Given the description of an element on the screen output the (x, y) to click on. 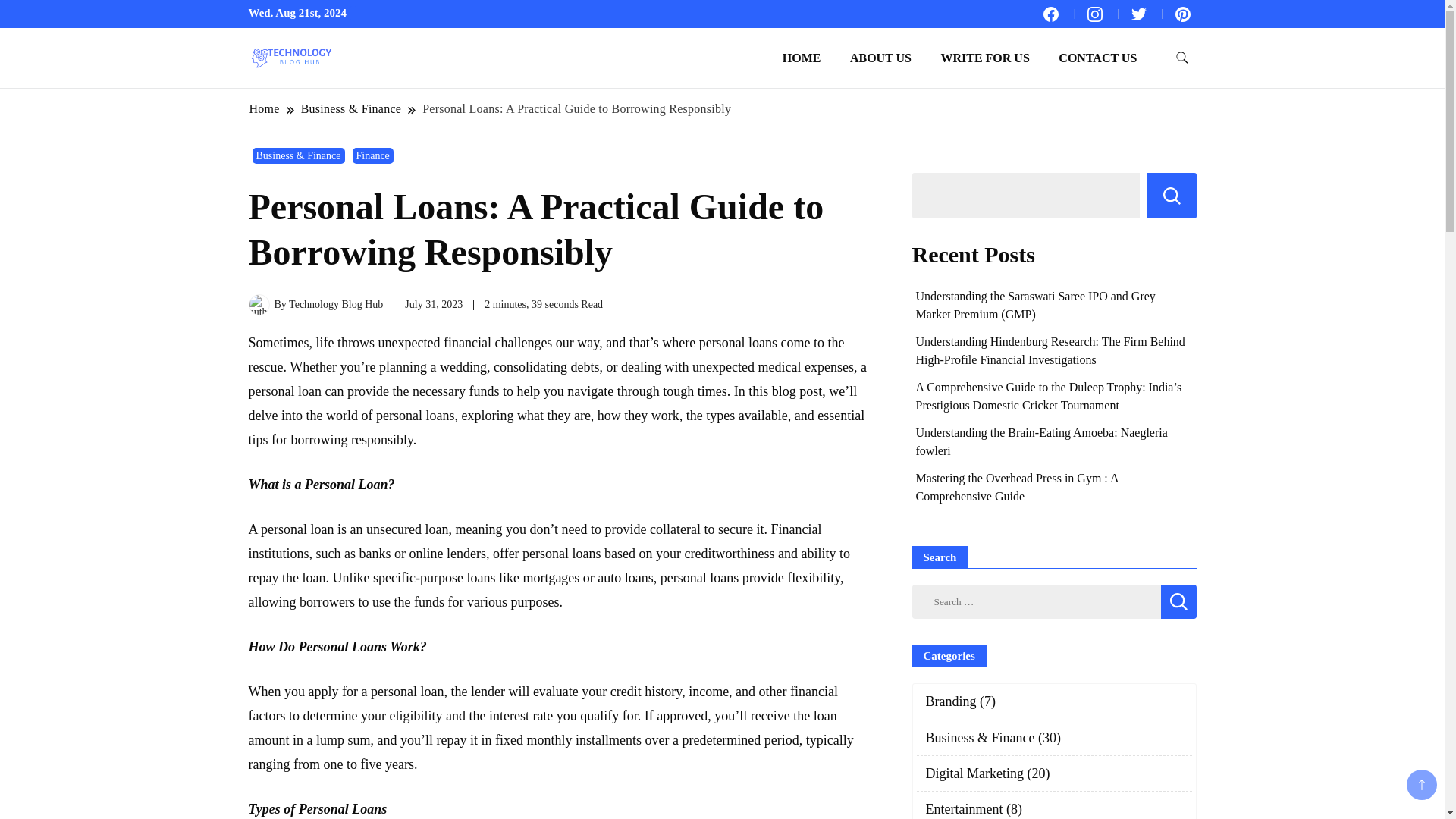
Search (1177, 601)
Home (264, 108)
CONTACT US (1097, 57)
WRITE FOR US (984, 57)
Personal Loans: A Practical Guide to Borrowing Responsibly (577, 108)
Finance (372, 155)
July 31, 2023 (433, 304)
ABOUT US (880, 57)
Technology Blog Hub (335, 304)
Search (1177, 601)
